Given the description of an element on the screen output the (x, y) to click on. 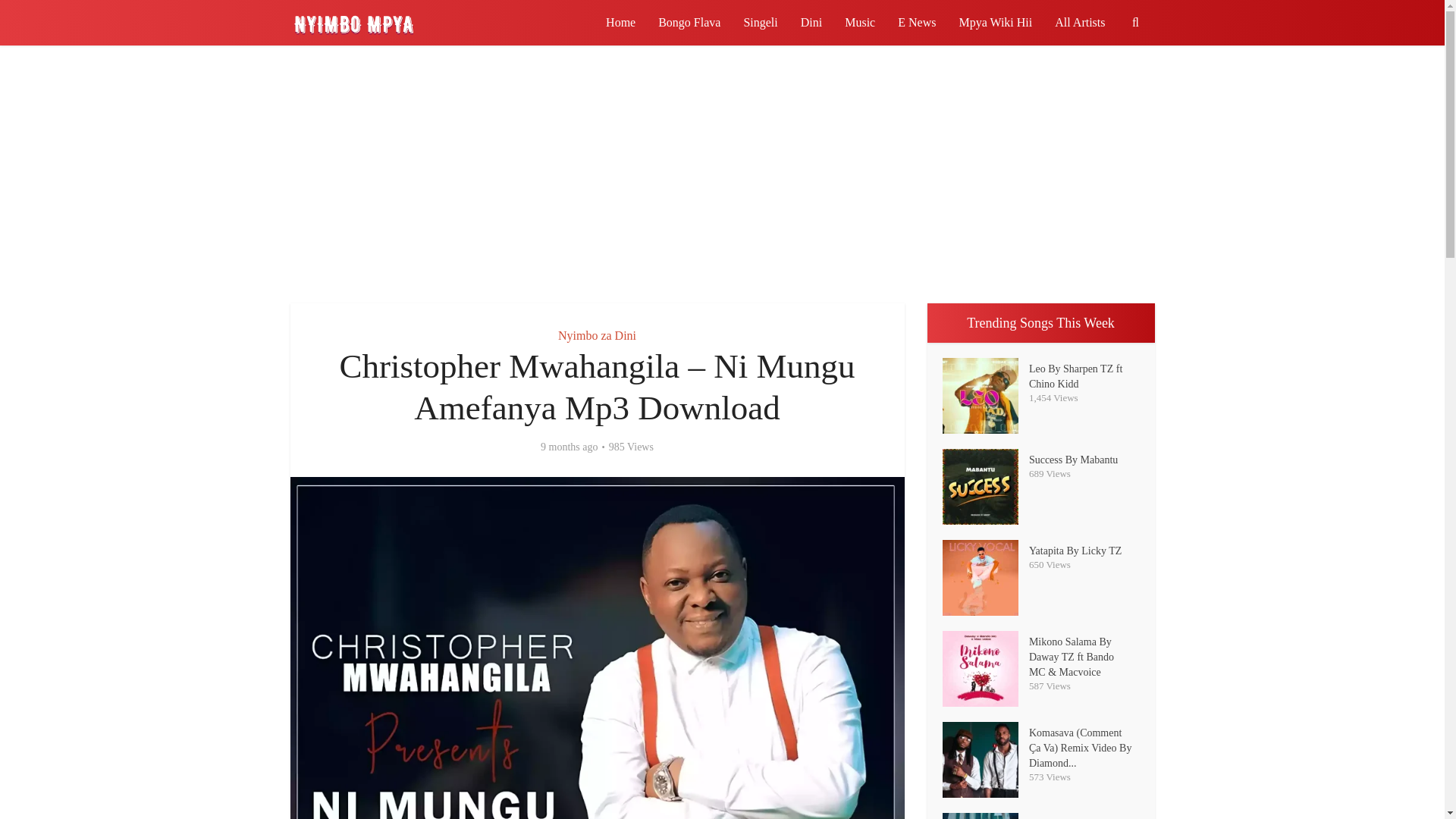
All Artists (1079, 22)
Mpya Wiki Hii (995, 22)
Dini (810, 22)
Music (859, 22)
Home (620, 22)
Singeli (760, 22)
E News (916, 22)
Advertisement (721, 173)
Nyimbo za Dini (596, 335)
Bongo Flava (689, 22)
